Given the description of an element on the screen output the (x, y) to click on. 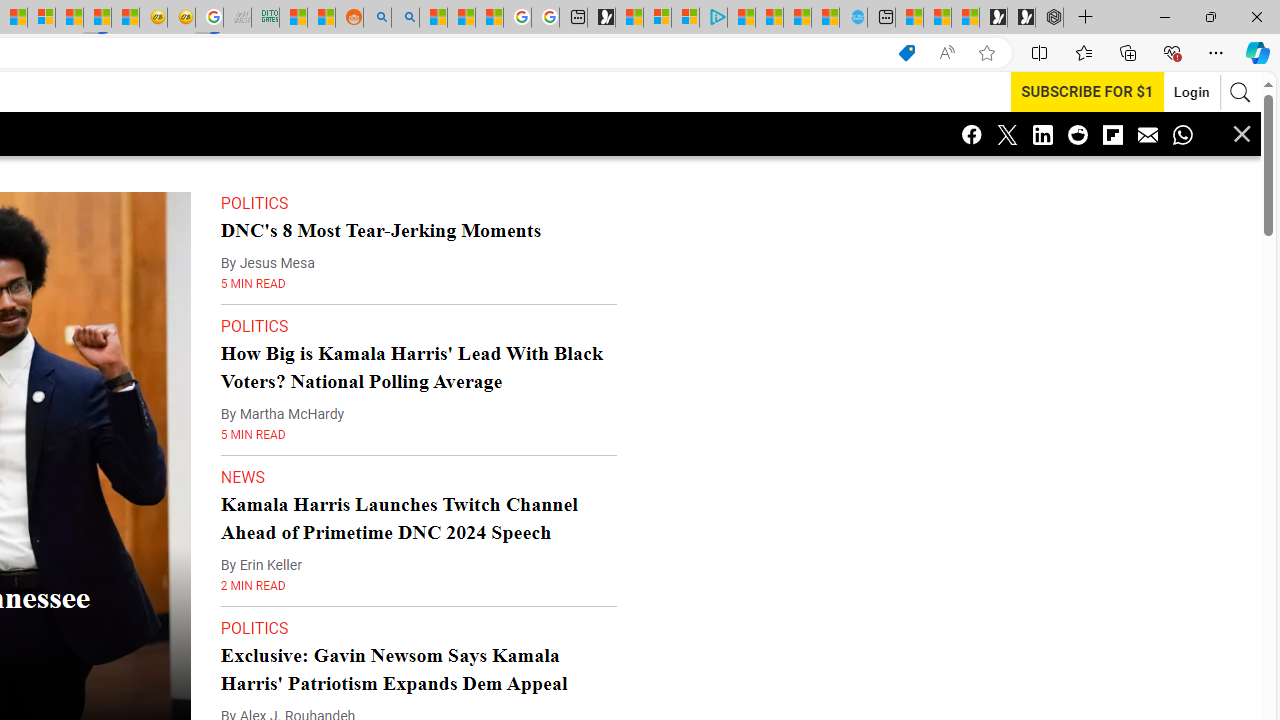
Microsoft Start Gaming (601, 17)
By Jesus Mesa (267, 263)
Class: icon-linkedin (1042, 133)
Subscribe to our service (1087, 91)
Class: icon-reddit (1077, 133)
By Erin Keller (261, 565)
Class: icon-facebook (971, 133)
